Given the description of an element on the screen output the (x, y) to click on. 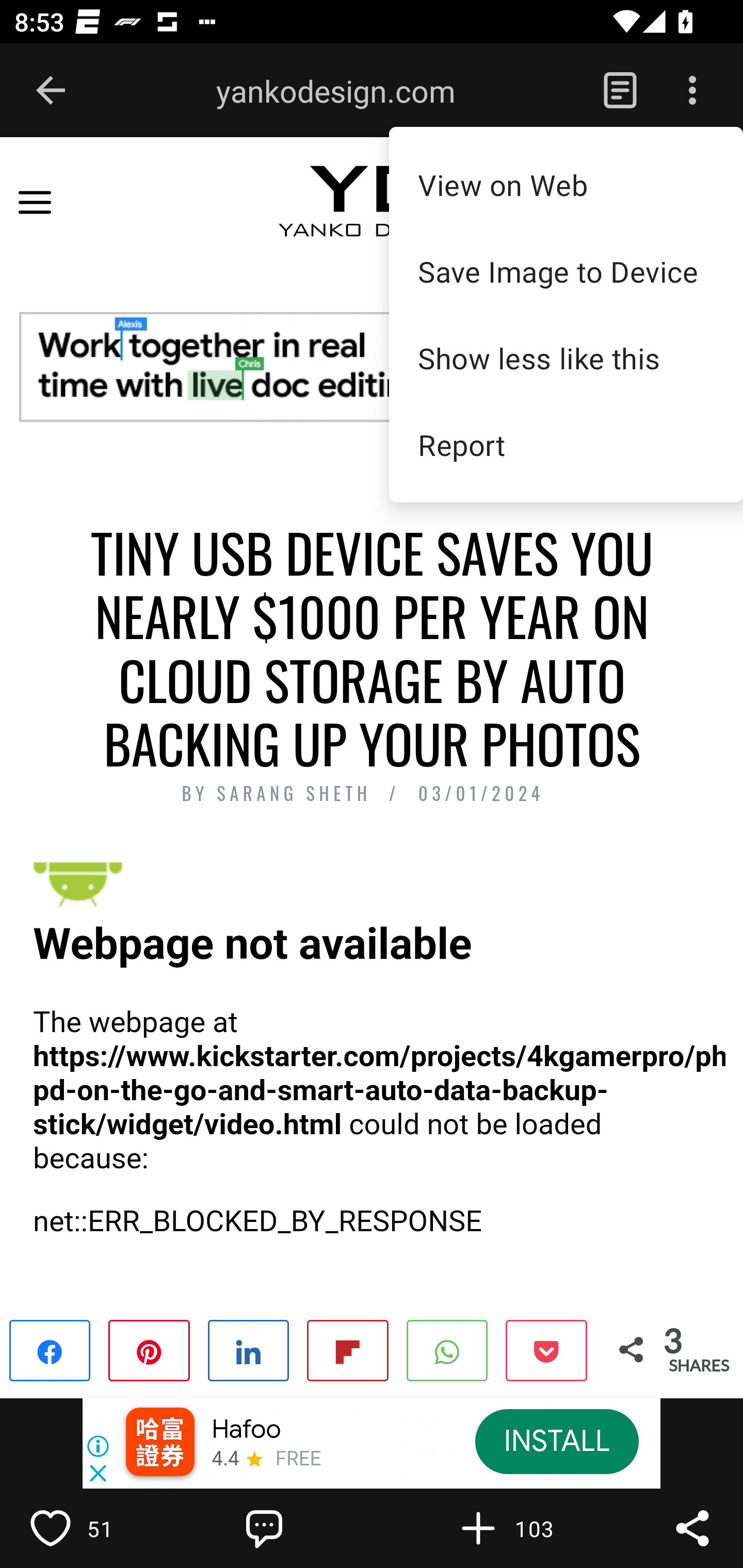
View on Web (566, 184)
Save Image to Device (566, 271)
Show less like this (566, 358)
Report (566, 444)
